Given the description of an element on the screen output the (x, y) to click on. 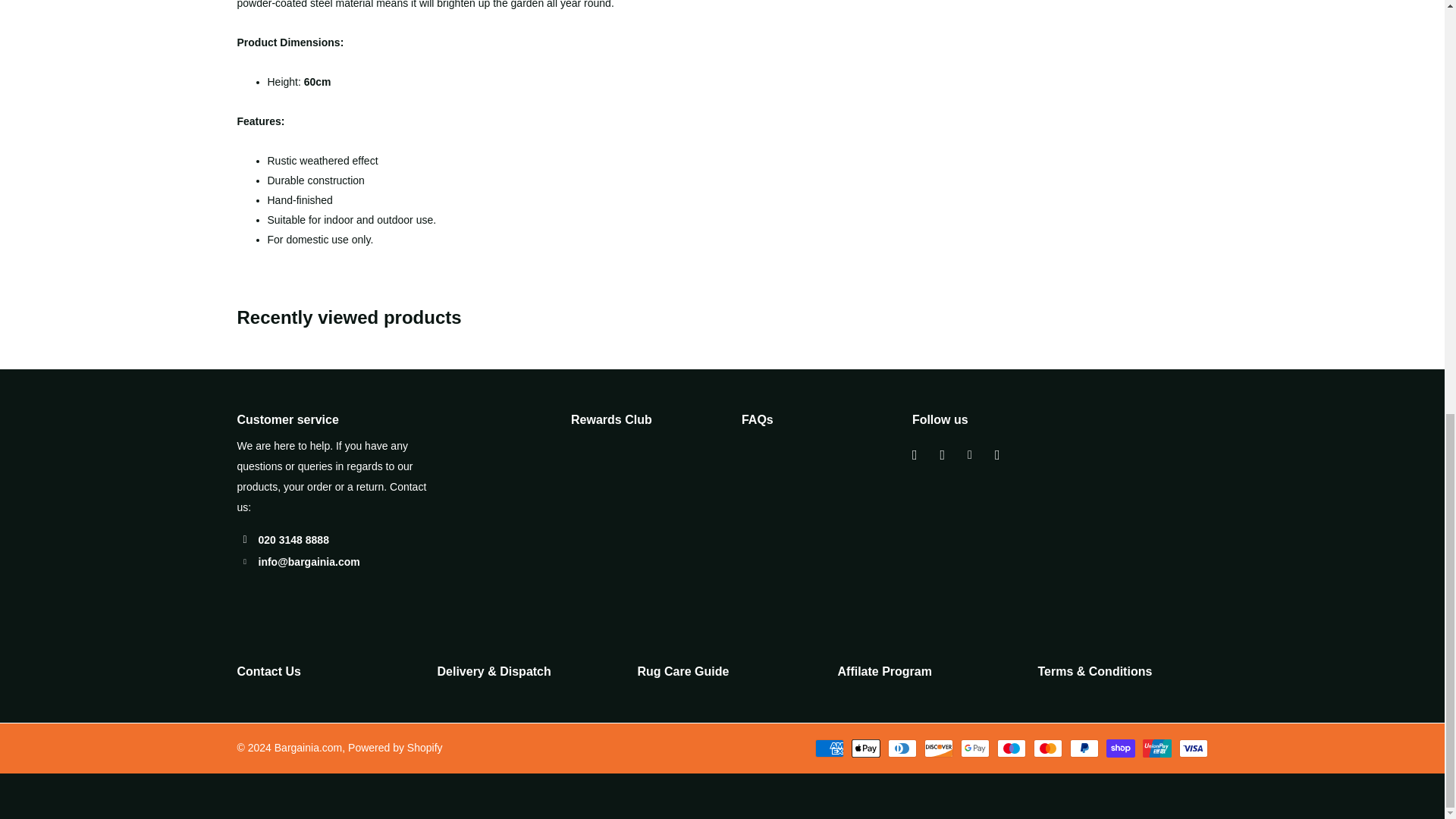
Apple Pay (864, 748)
PayPal (1082, 748)
Discover (937, 748)
Visa (1192, 748)
Shop Pay (1119, 748)
Mastercard (1046, 748)
Diners Club (900, 748)
American Express (828, 748)
Union Pay (1155, 748)
Maestro (1010, 748)
